Given the description of an element on the screen output the (x, y) to click on. 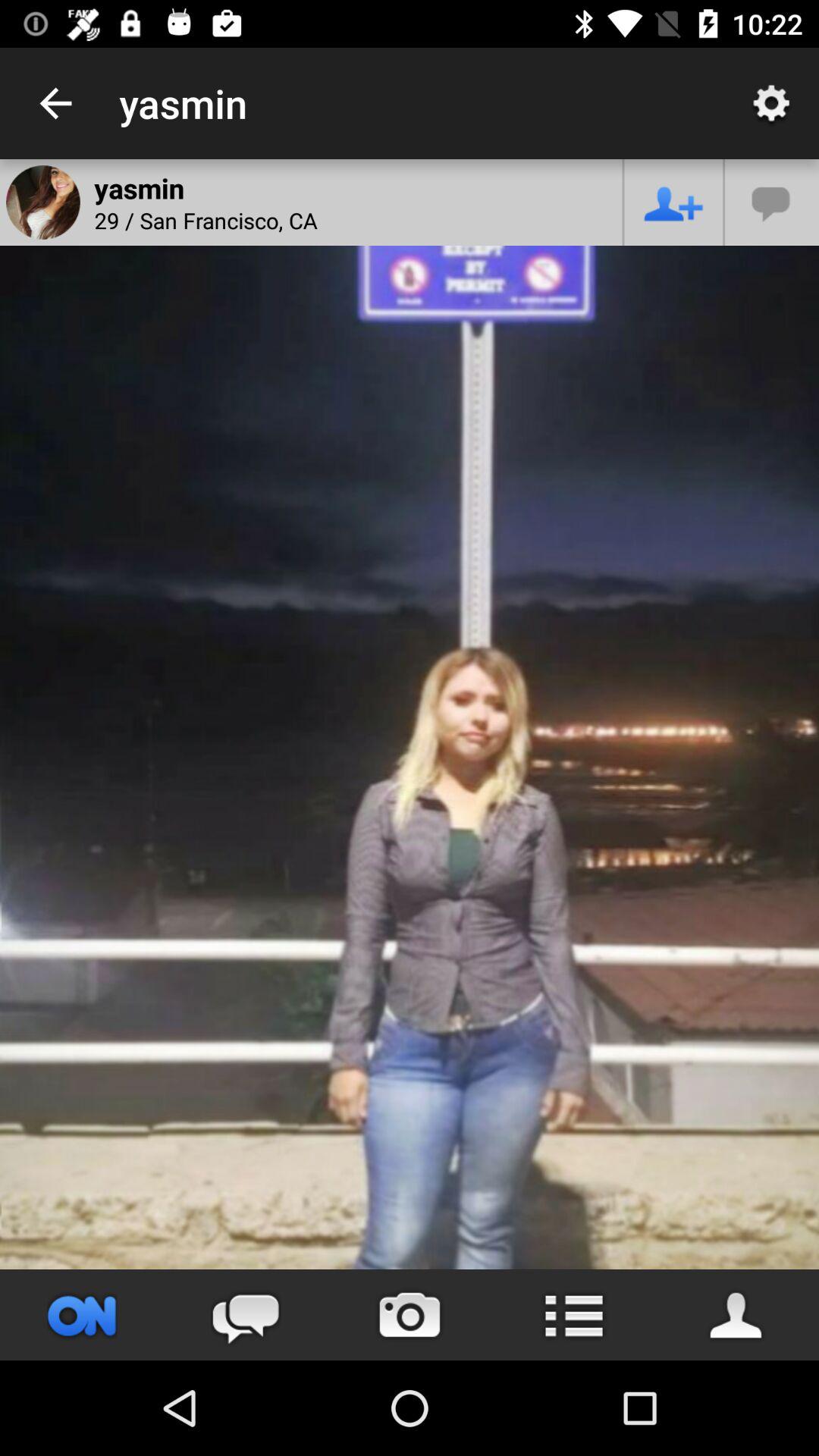
take a picture (409, 1315)
